Given the description of an element on the screen output the (x, y) to click on. 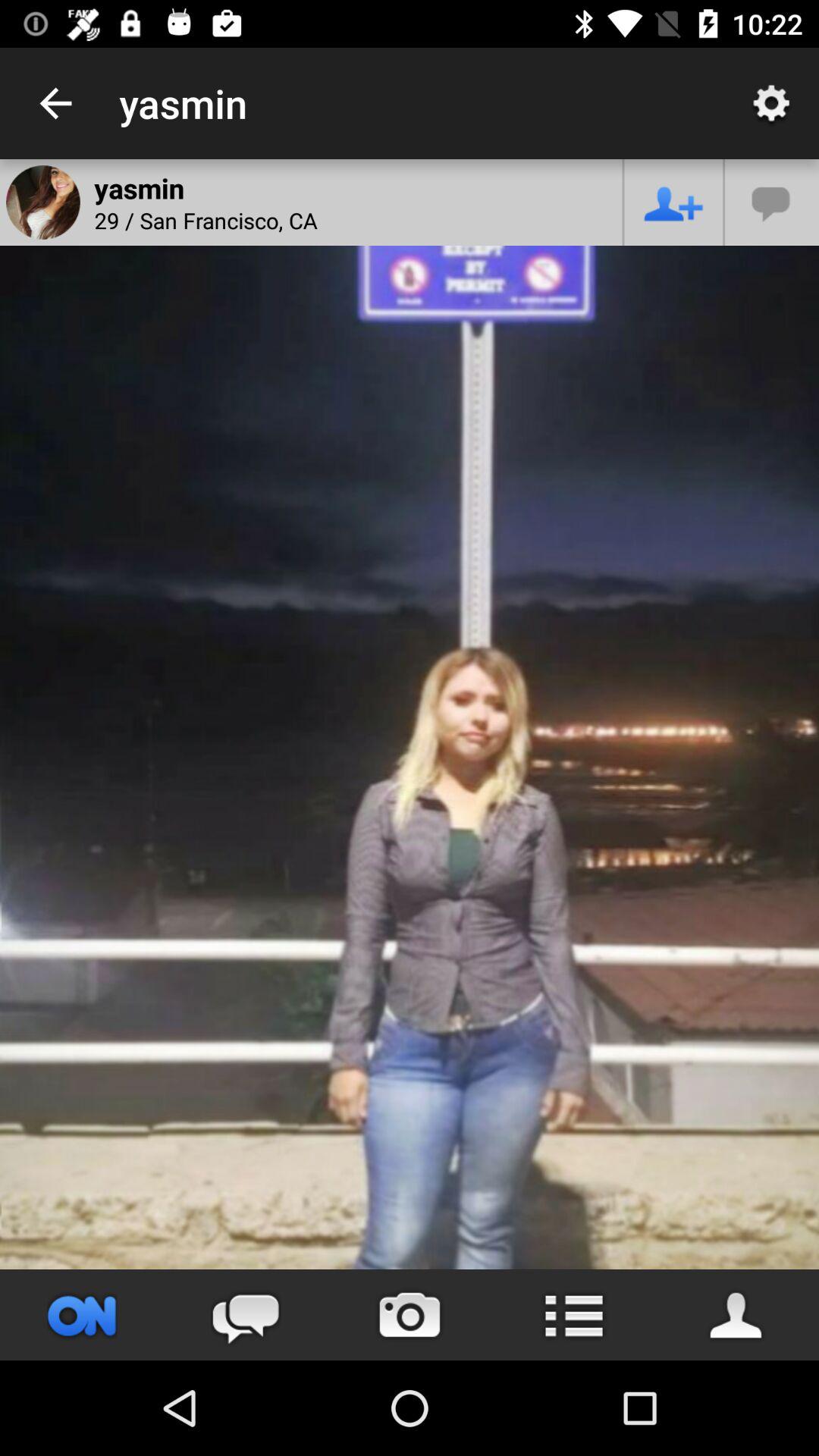
take a picture (409, 1315)
